Given the description of an element on the screen output the (x, y) to click on. 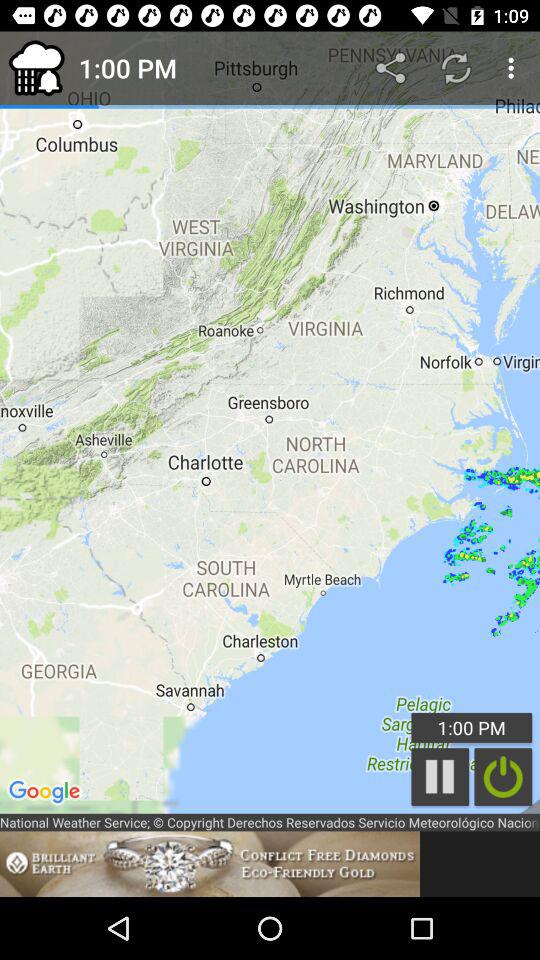
go to play (440, 776)
